Given the description of an element on the screen output the (x, y) to click on. 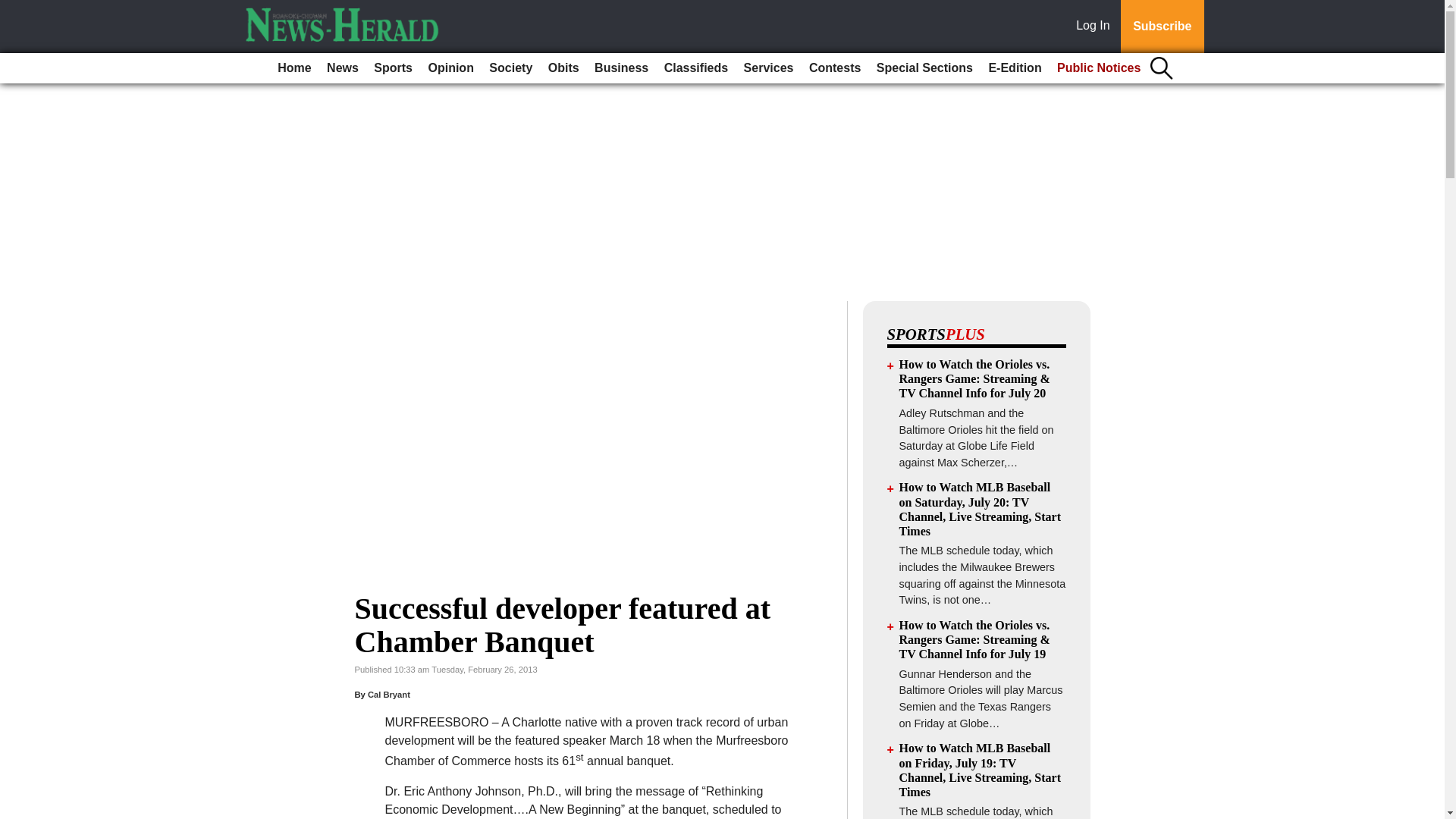
Go (13, 9)
Services (768, 68)
Public Notices (1099, 68)
E-Edition (1013, 68)
Log In (1095, 26)
Opinion (450, 68)
Business (620, 68)
Home (293, 68)
Society (510, 68)
Sports (393, 68)
Classifieds (695, 68)
Cal Bryant (389, 694)
Obits (563, 68)
Special Sections (924, 68)
News (342, 68)
